Given the description of an element on the screen output the (x, y) to click on. 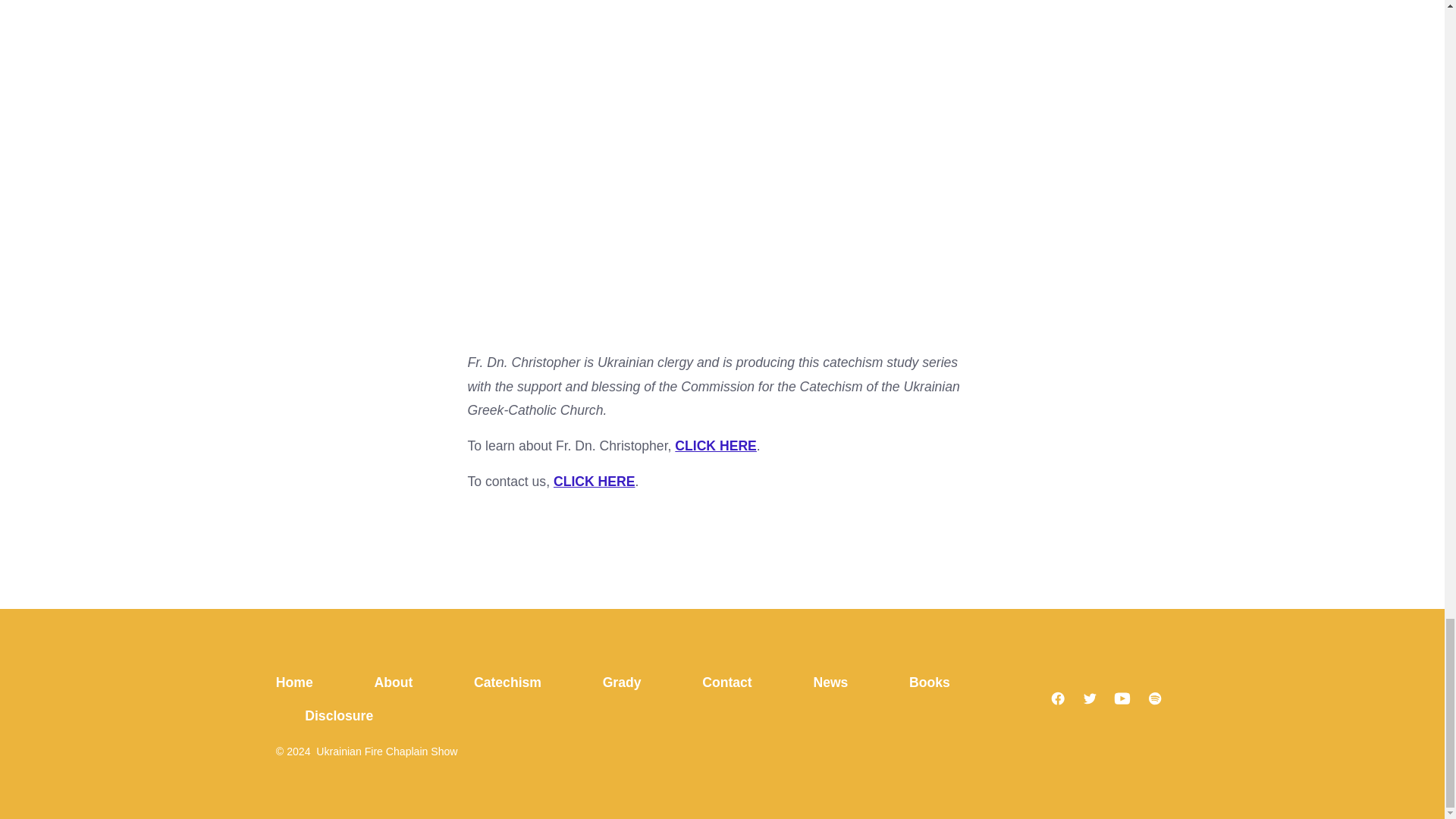
Home (309, 683)
CLICK HERE (593, 481)
Contact (726, 683)
Open Spotify in a new tab (1155, 697)
News (830, 683)
Catechism (507, 683)
Disclosure (339, 716)
CLICK HERE (716, 445)
Open Twitter in a new tab (1089, 697)
About (393, 683)
